Given the description of an element on the screen output the (x, y) to click on. 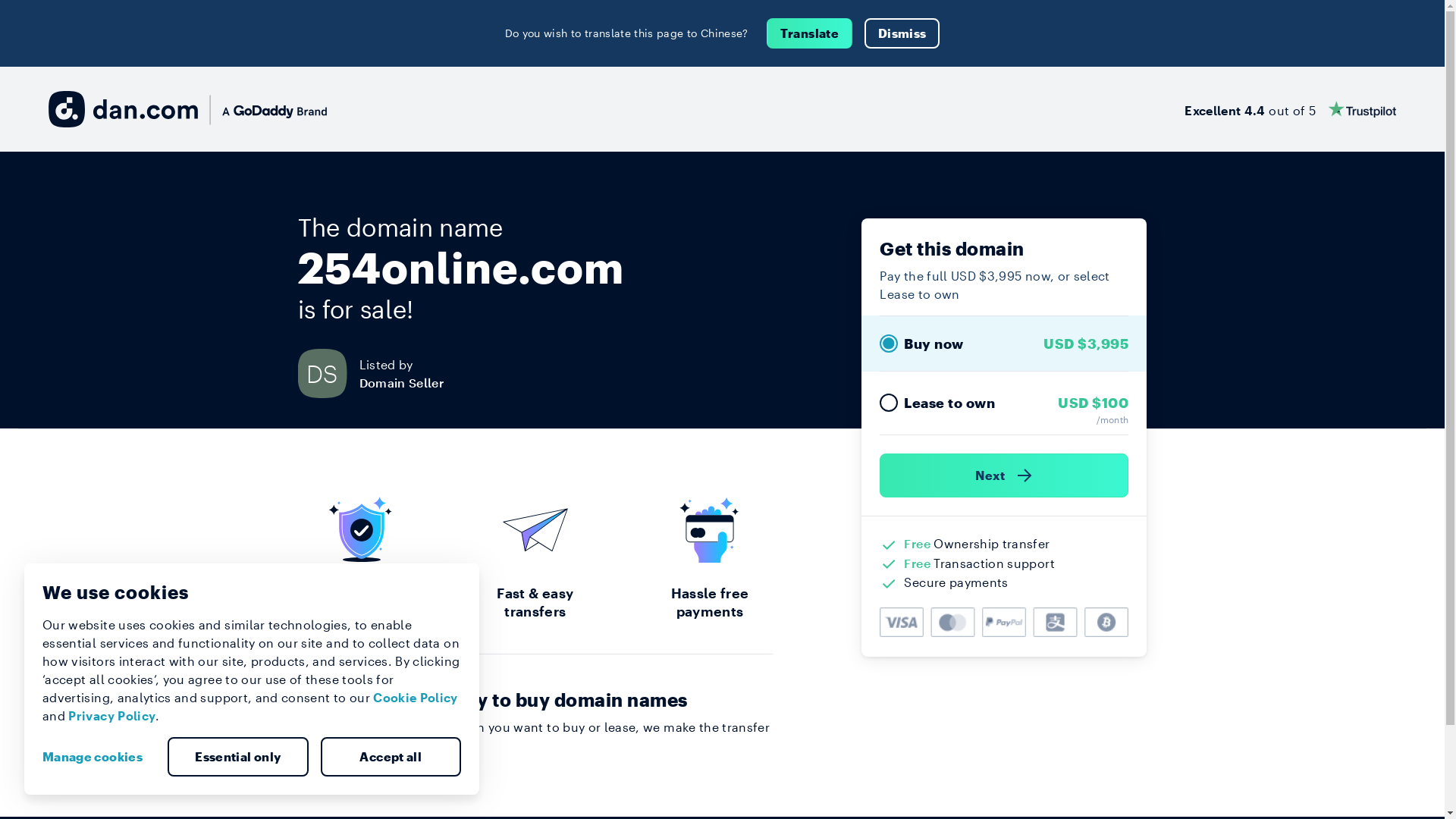
Cookie Policy Element type: text (415, 697)
Dismiss Element type: text (901, 33)
Privacy Policy Element type: text (111, 715)
Accept all Element type: text (390, 756)
Manage cookies Element type: text (98, 756)
Translate Element type: text (809, 33)
Essential only Element type: text (237, 756)
Excellent 4.4 out of 5 Element type: text (1290, 109)
Next
) Element type: text (1003, 475)
